Given the description of an element on the screen output the (x, y) to click on. 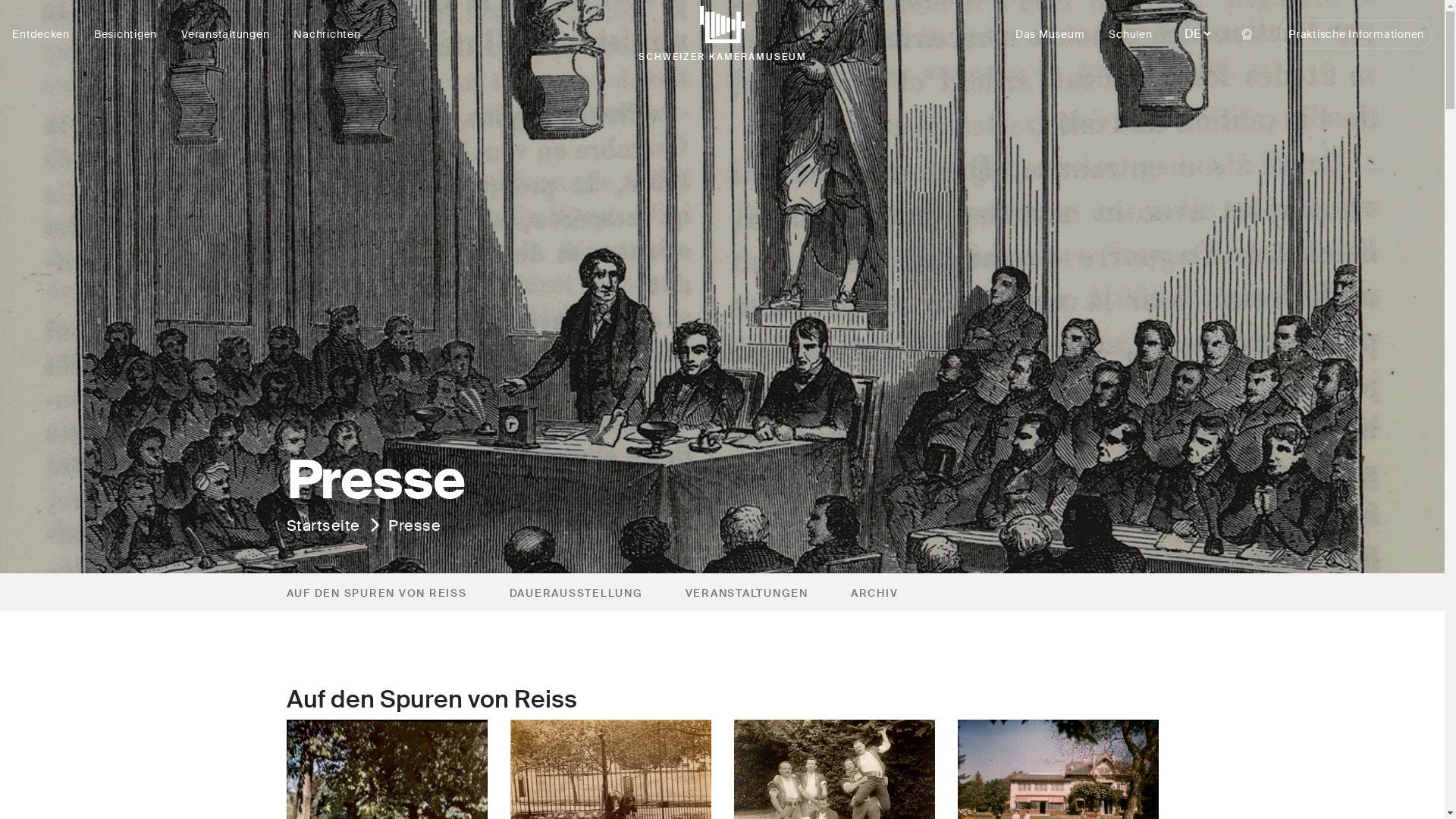
Besichtigen Element type: text (125, 33)
Praktische Informationen Element type: text (1356, 34)
SCHWEIZER KAMERAMUSEUM Element type: text (722, 37)
ARCHIV Element type: text (874, 592)
Schulen Element type: text (1129, 34)
Entdecken Element type: text (40, 33)
VERANSTALTUNGEN Element type: text (746, 592)
AUF DEN SPUREN VON REISS Element type: text (376, 592)
DAUERAUSSTELLUNG Element type: text (576, 592)
Nachrichten Element type: text (326, 33)
Startseite Element type: text (323, 525)
Das Museum Element type: text (1050, 34)
Webcam Element type: hover (1247, 34)
Veranstaltungen Element type: text (225, 33)
